Given the description of an element on the screen output the (x, y) to click on. 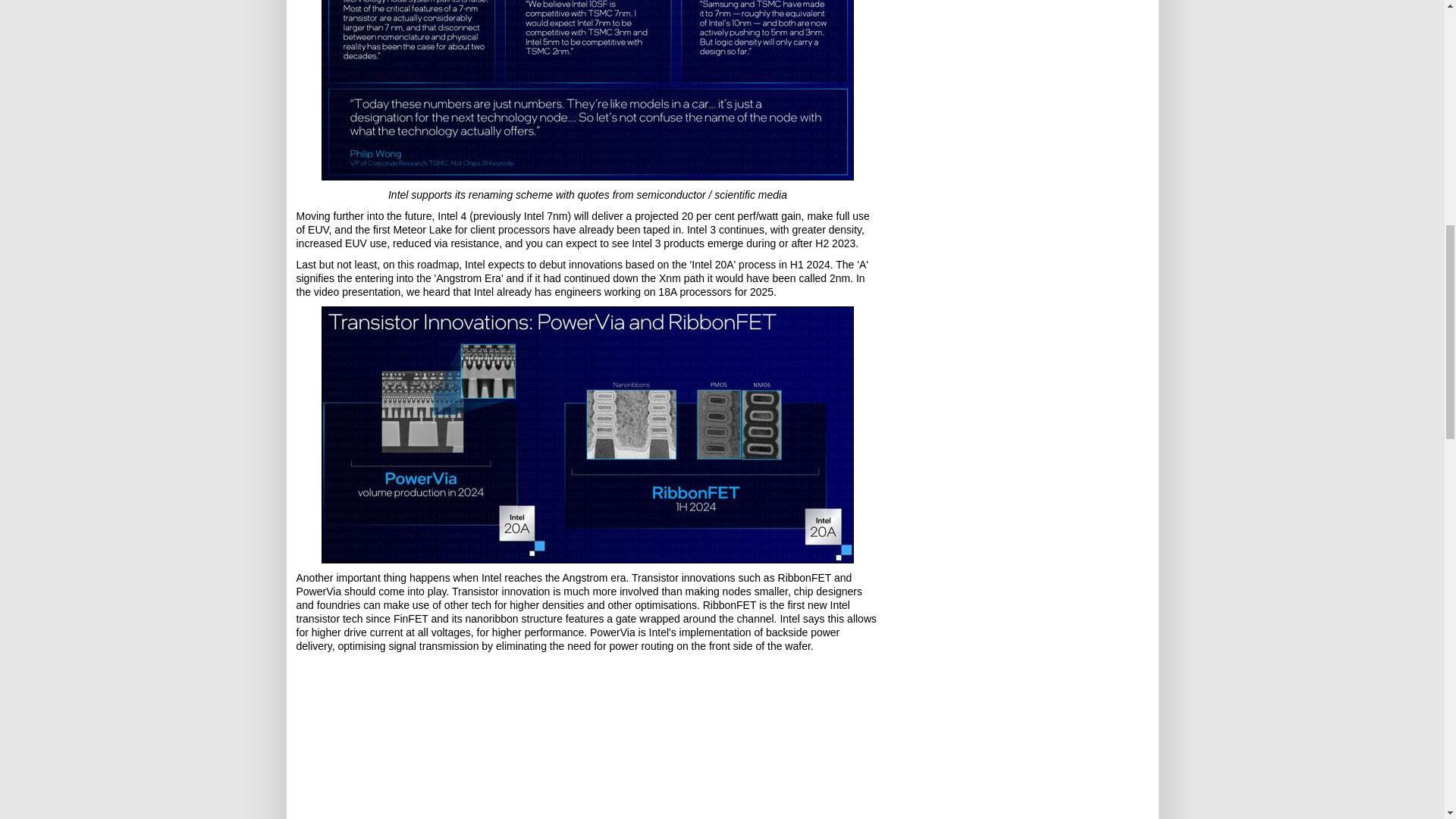
YouTube video player (587, 739)
